Given the description of an element on the screen output the (x, y) to click on. 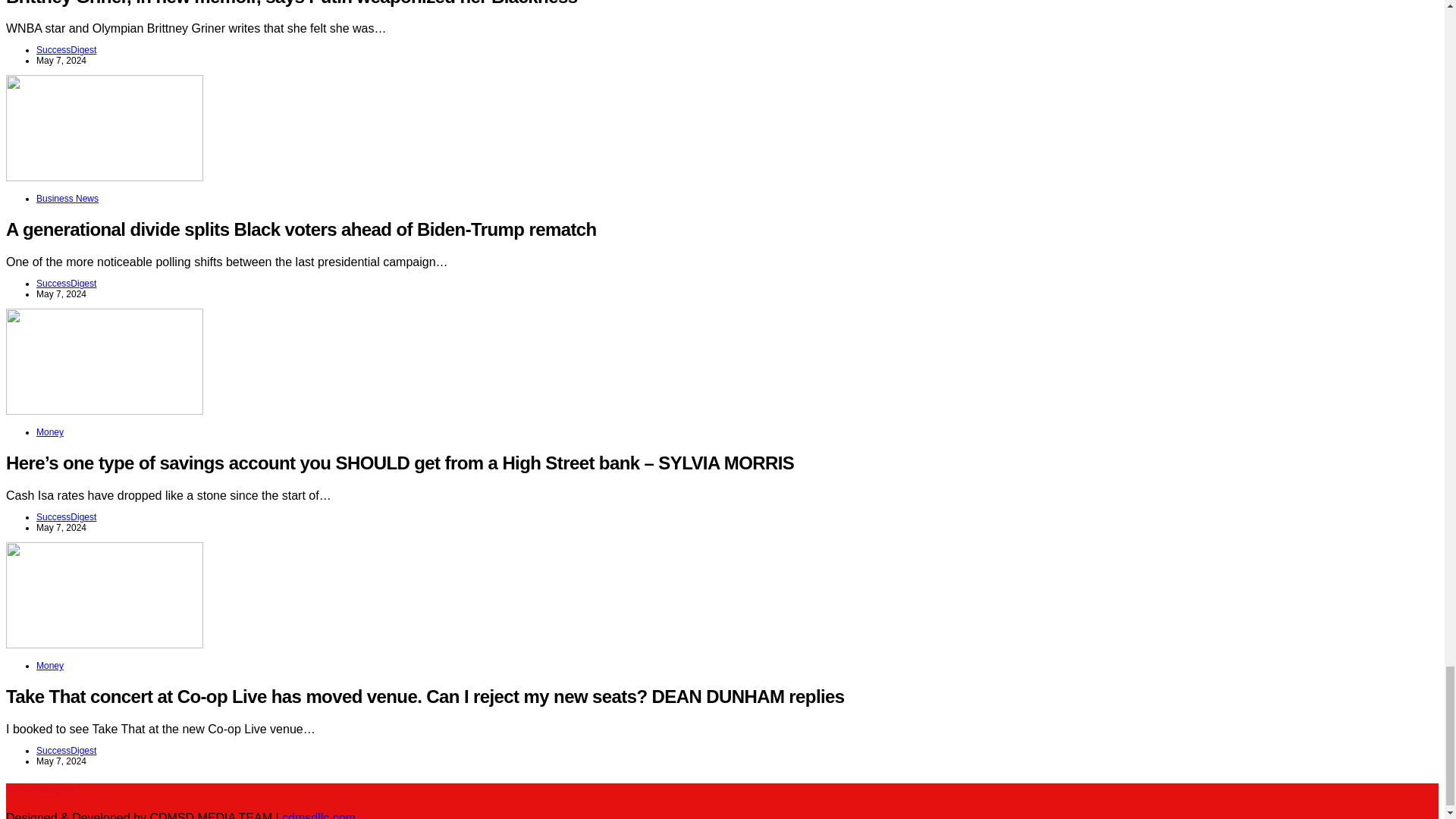
View all posts by SuccessDigest (66, 50)
